Given the description of an element on the screen output the (x, y) to click on. 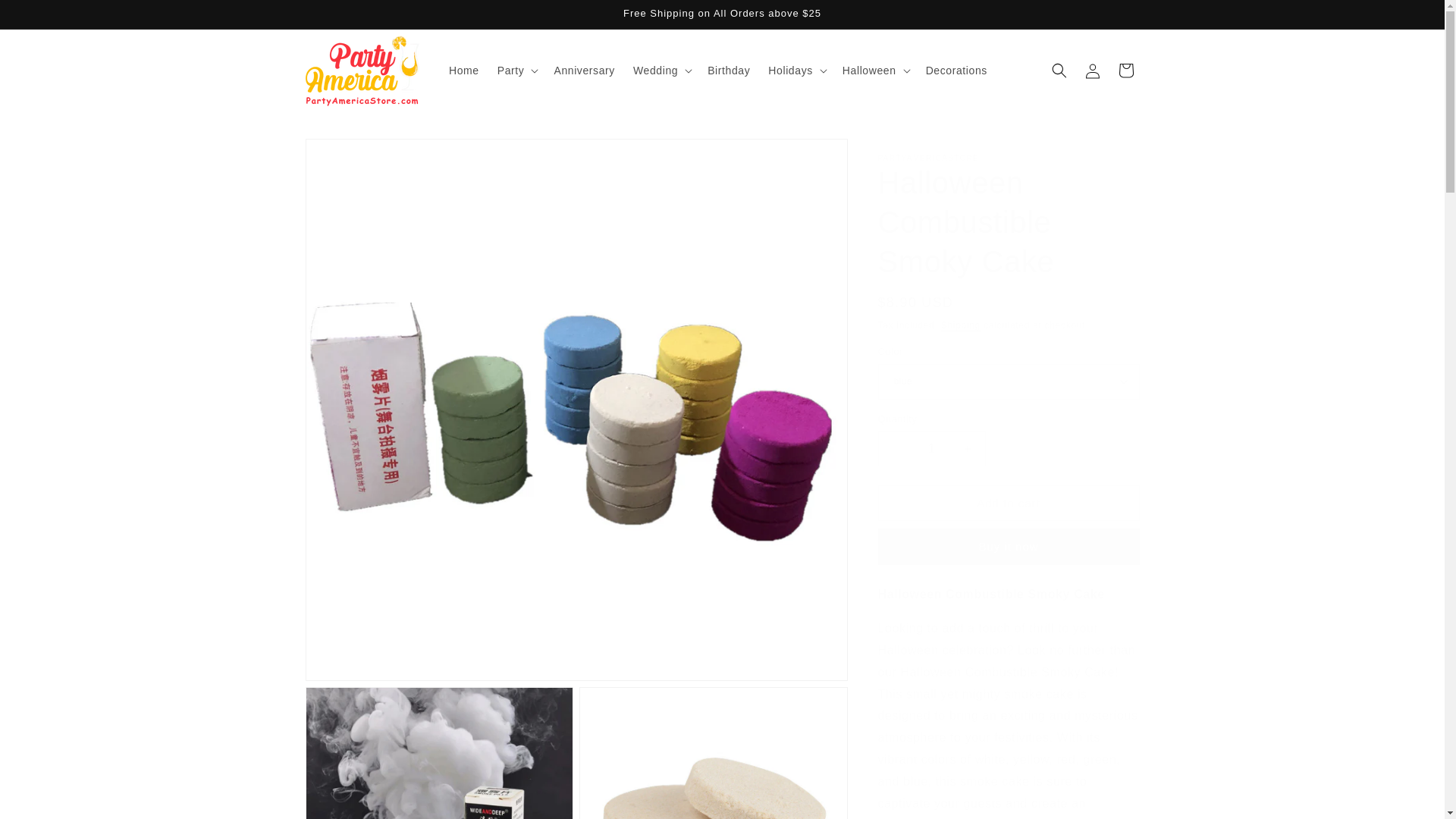
Skip to content (45, 17)
Open media 3 in modal (713, 753)
1 (931, 448)
Open media 2 in modal (438, 753)
Anniversary (584, 70)
Home (463, 70)
